Given the description of an element on the screen output the (x, y) to click on. 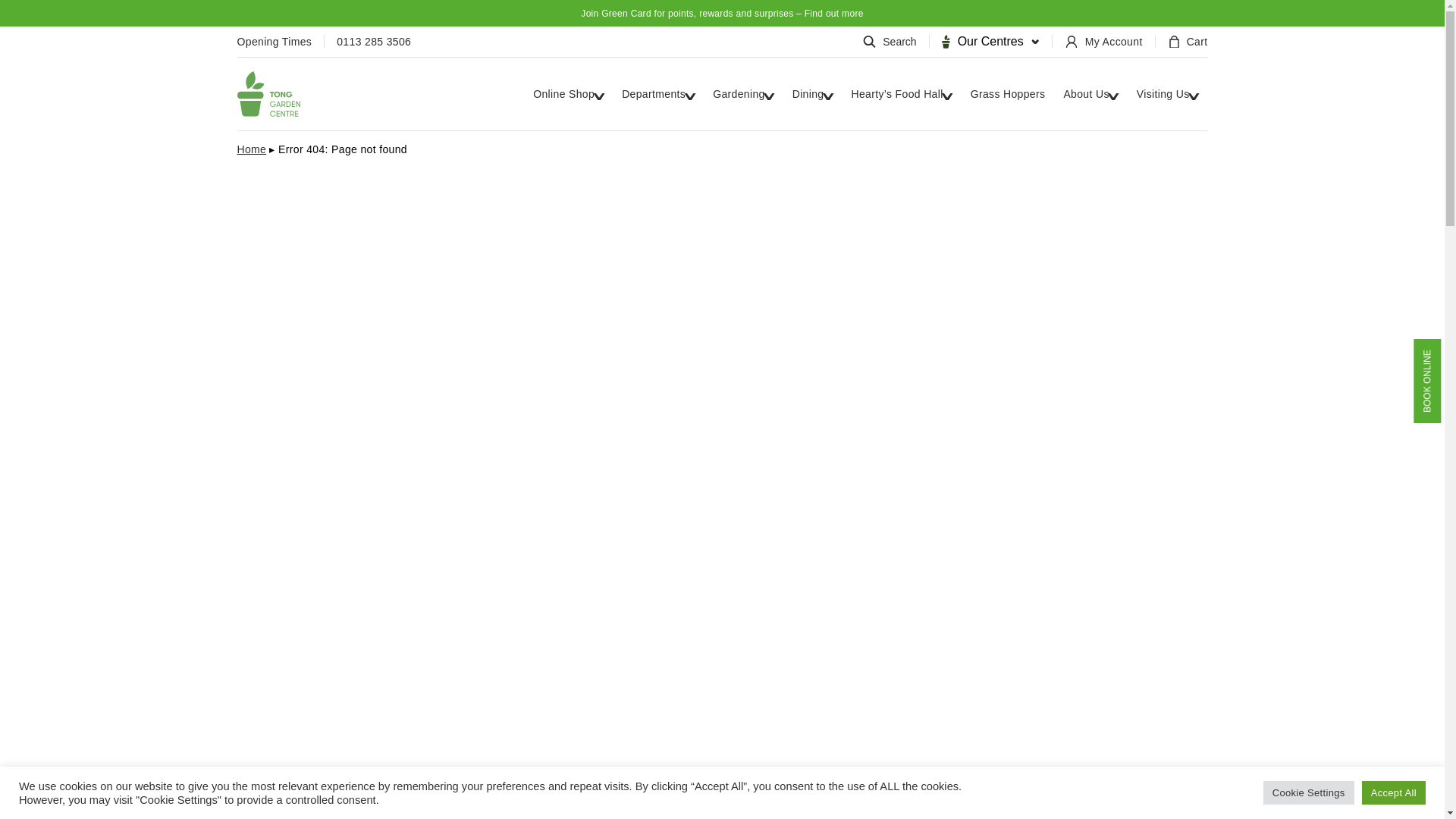
Cart (1187, 42)
My Account (1110, 42)
Search site (893, 42)
